Given the description of an element on the screen output the (x, y) to click on. 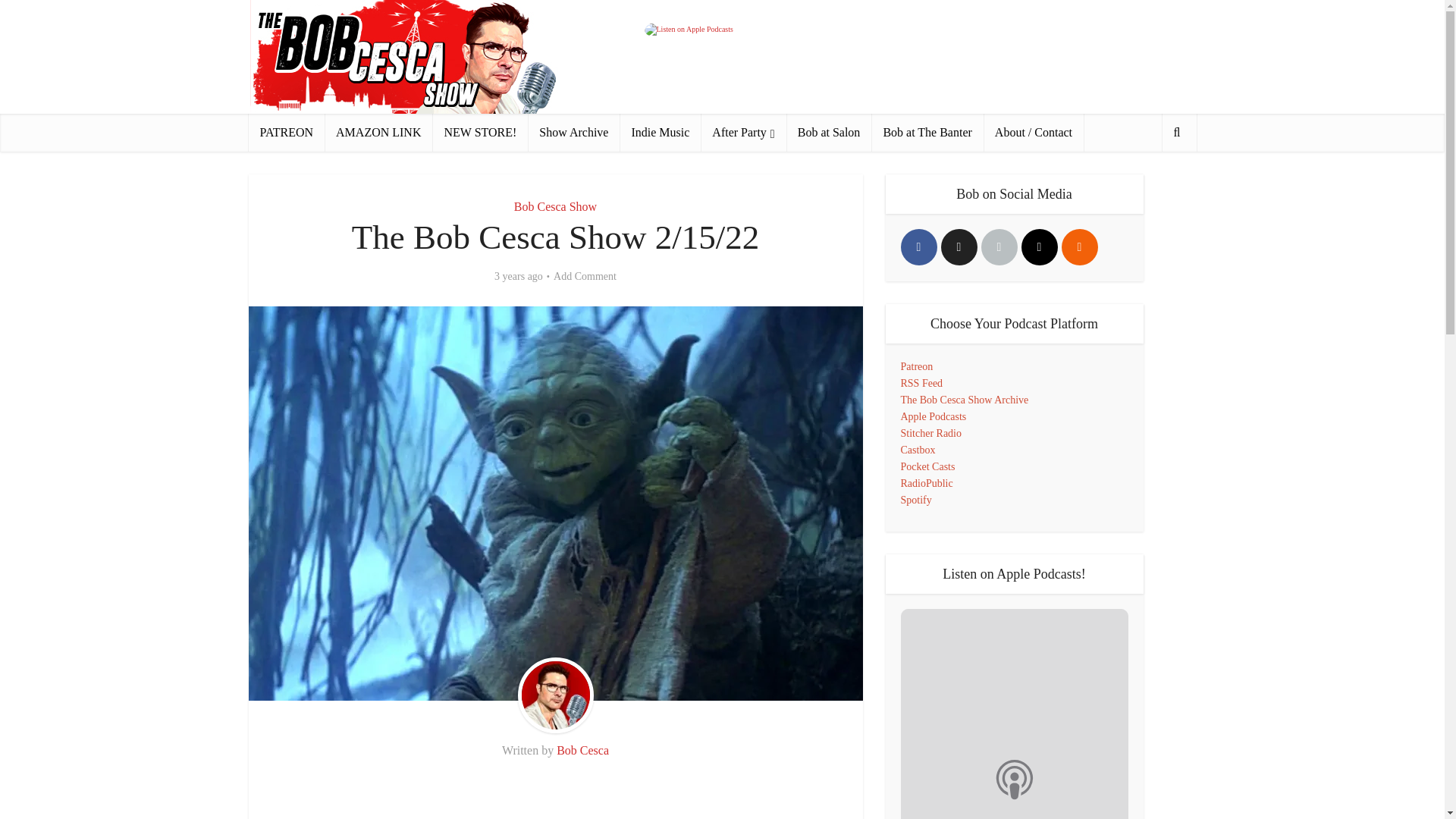
Show Archive (573, 132)
AMAZON LINK (378, 132)
Instagram (1038, 247)
Add Comment (584, 276)
Bob at Salon (829, 132)
After Party (743, 132)
Bob Cesca Show (554, 205)
Bob at The Banter (926, 132)
Facebook (919, 247)
Indie Music (660, 132)
